Given the description of an element on the screen output the (x, y) to click on. 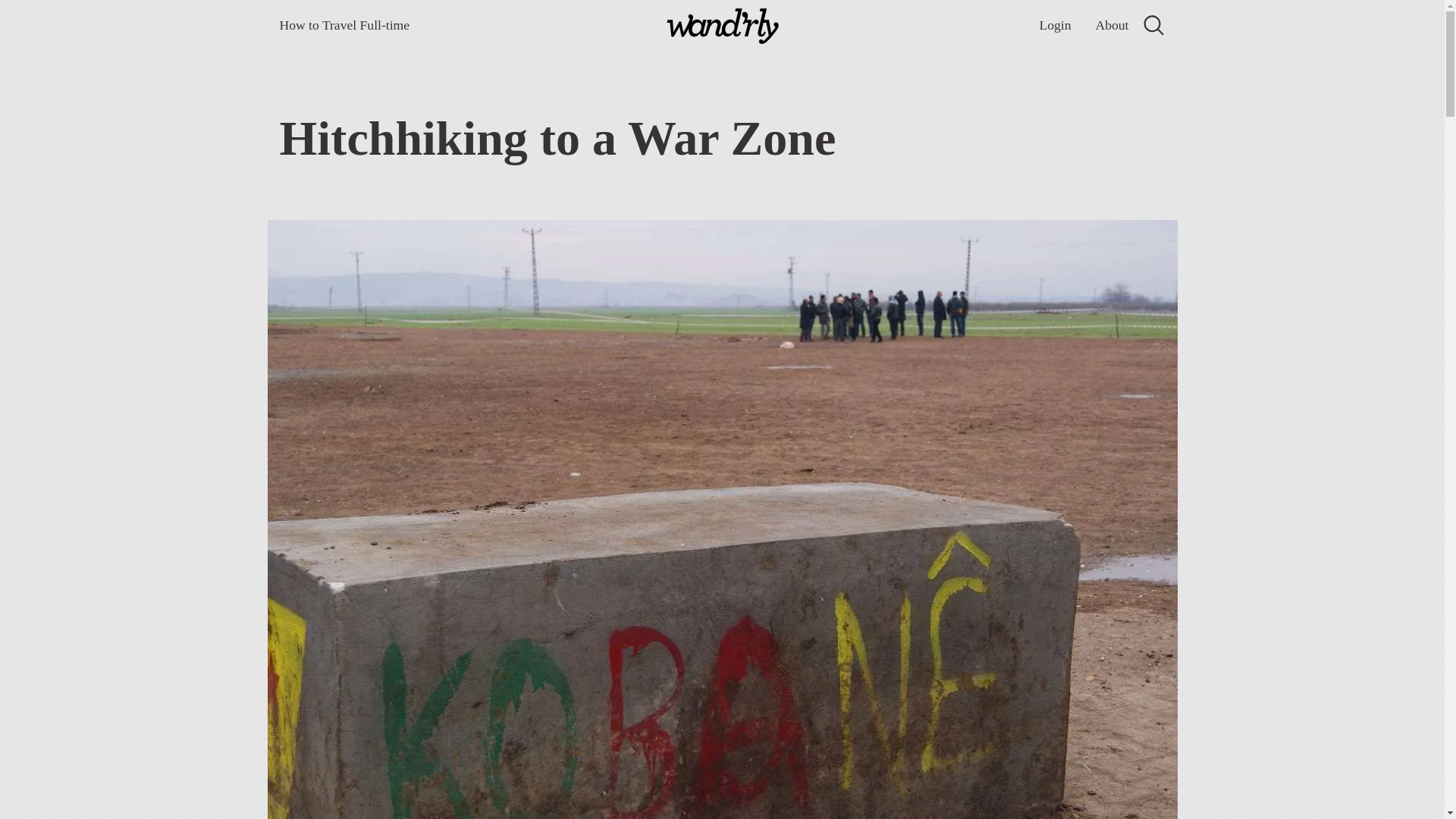
How to Travel Full-time (344, 25)
Return to home page (721, 28)
About (1112, 25)
Click this to open the search form (1152, 25)
Login (1054, 25)
